Given the description of an element on the screen output the (x, y) to click on. 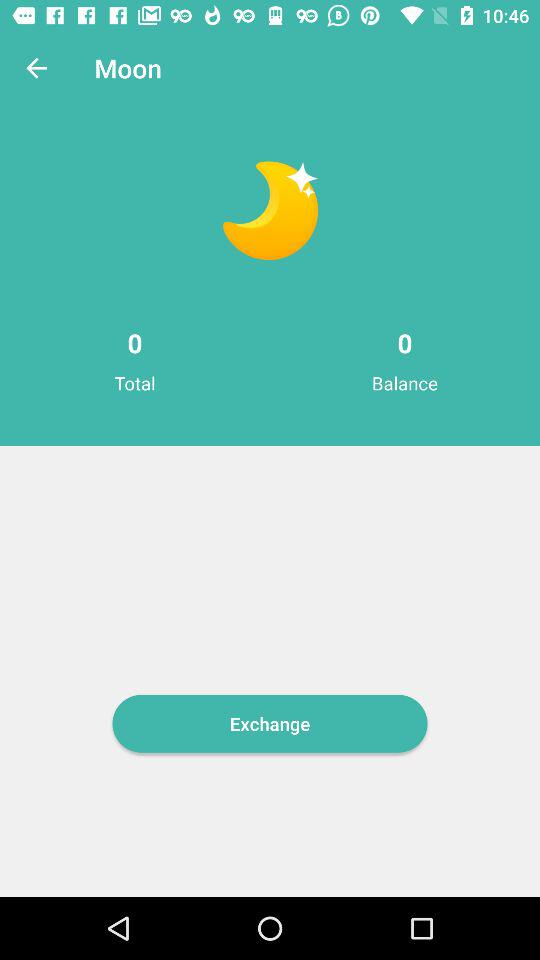
press exchange item (269, 723)
